Given the description of an element on the screen output the (x, y) to click on. 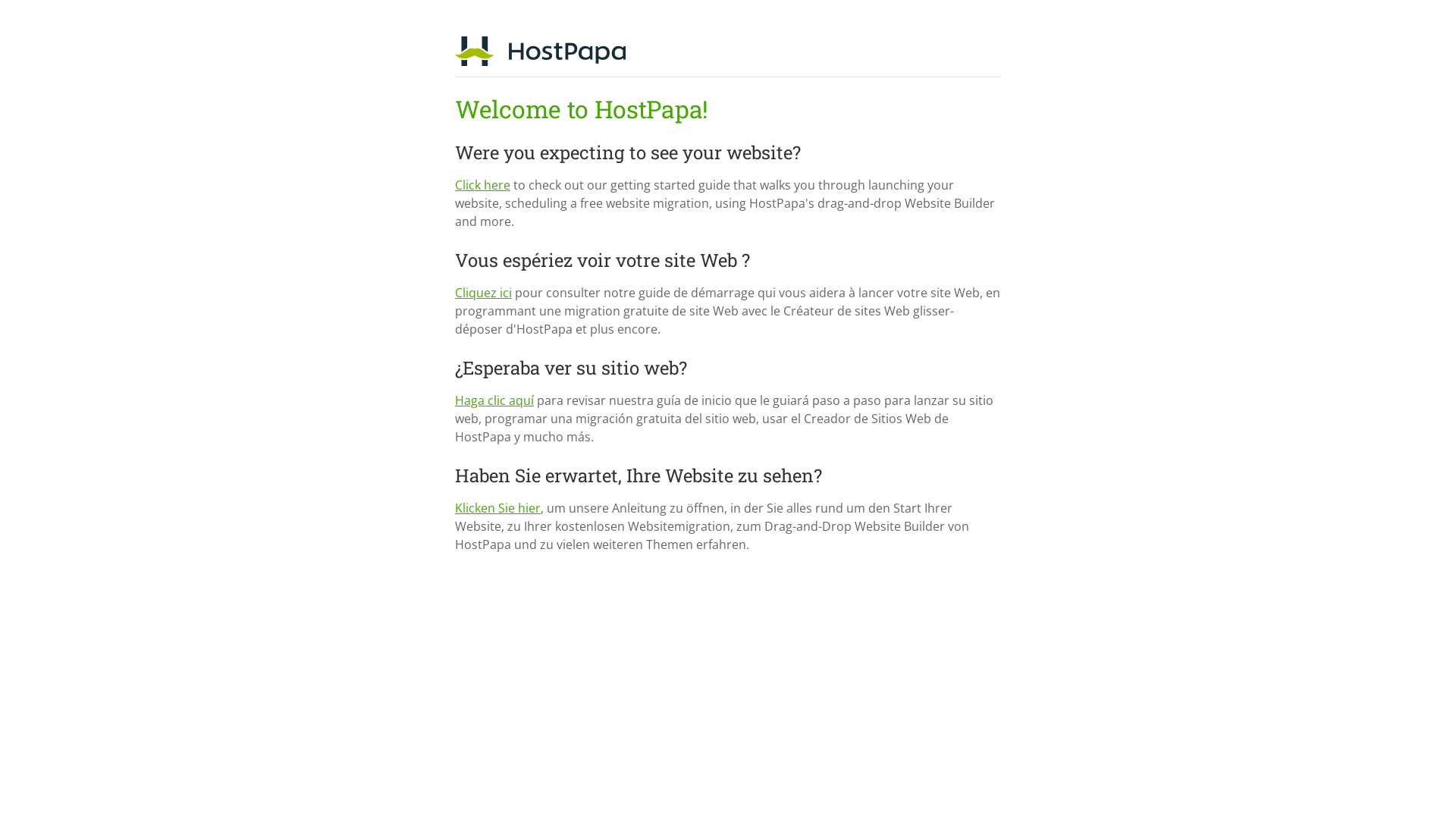
Click here Element type: text (482, 184)
Cliquez ici Element type: text (483, 292)
Klicken Sie hier Element type: text (497, 507)
